Given the description of an element on the screen output the (x, y) to click on. 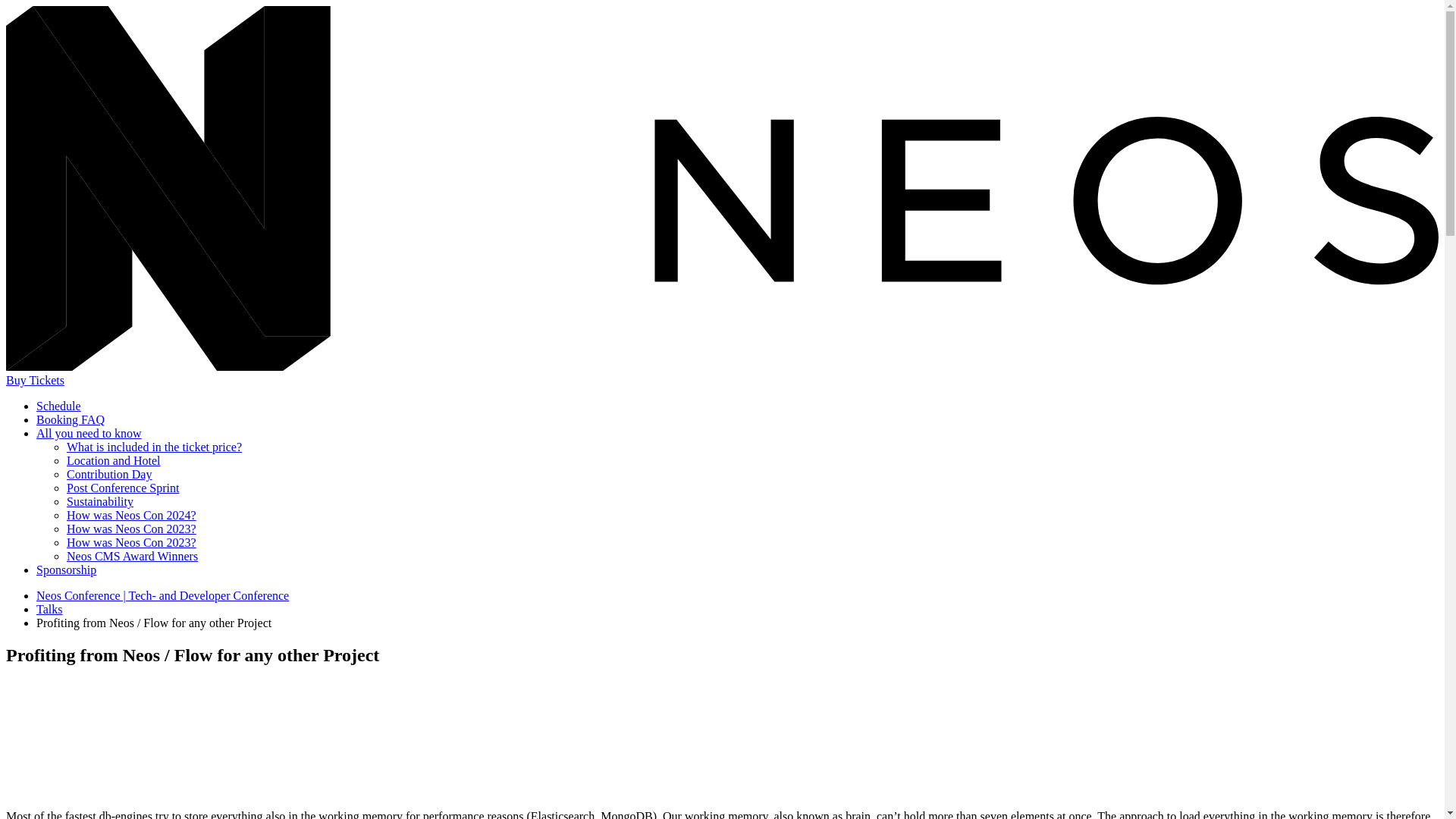
All you need to know (88, 432)
Sustainability (99, 501)
How was Neos Con 2023? (131, 528)
Sponsorship (66, 569)
Schedule (58, 405)
Contribution Day (108, 473)
Contribution Day (108, 473)
Booking FAQ (70, 419)
How was Neos Con 2024? (131, 514)
Booking FAQ (70, 419)
